Given the description of an element on the screen output the (x, y) to click on. 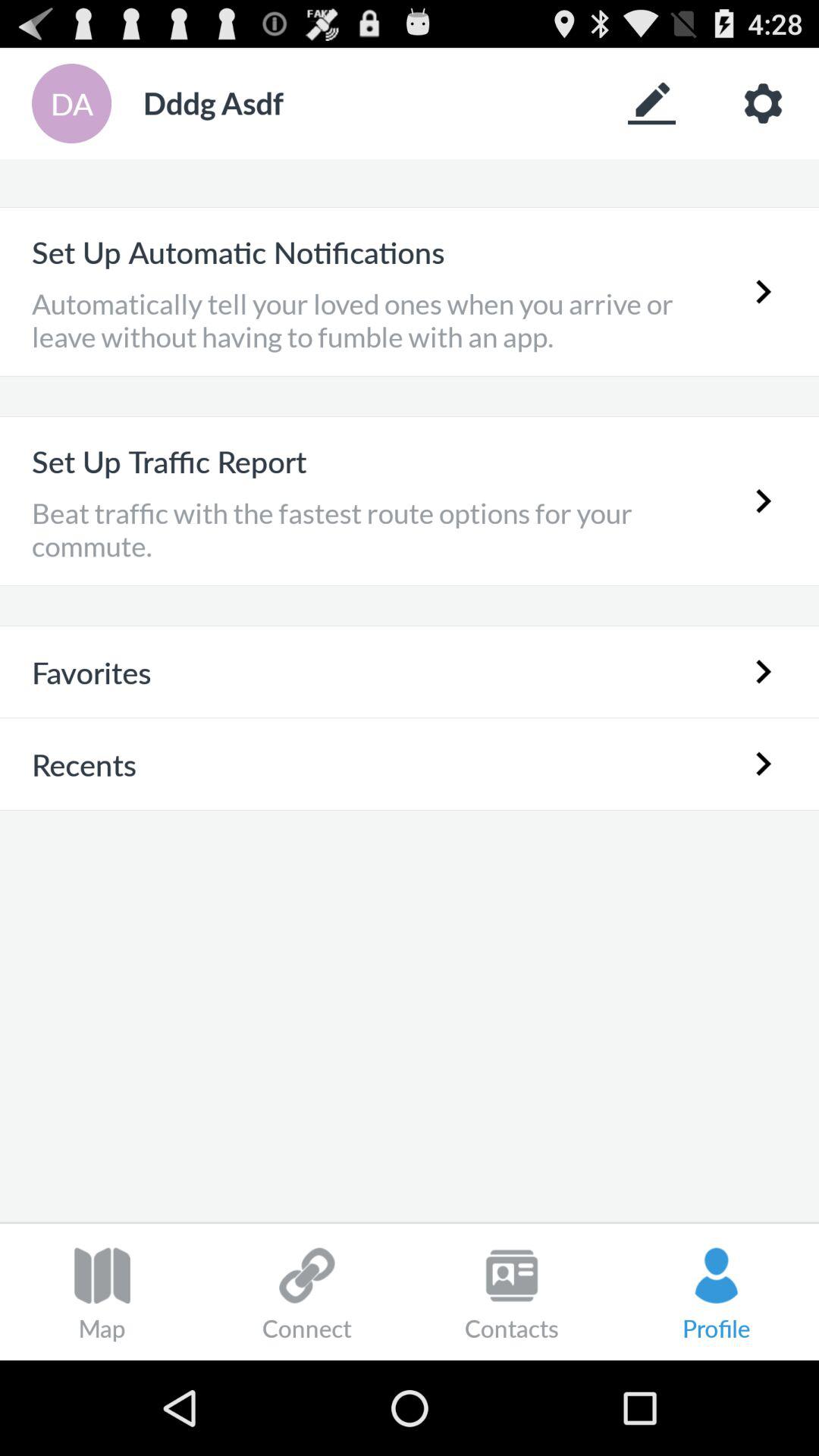
used to write content (651, 103)
